Given the description of an element on the screen output the (x, y) to click on. 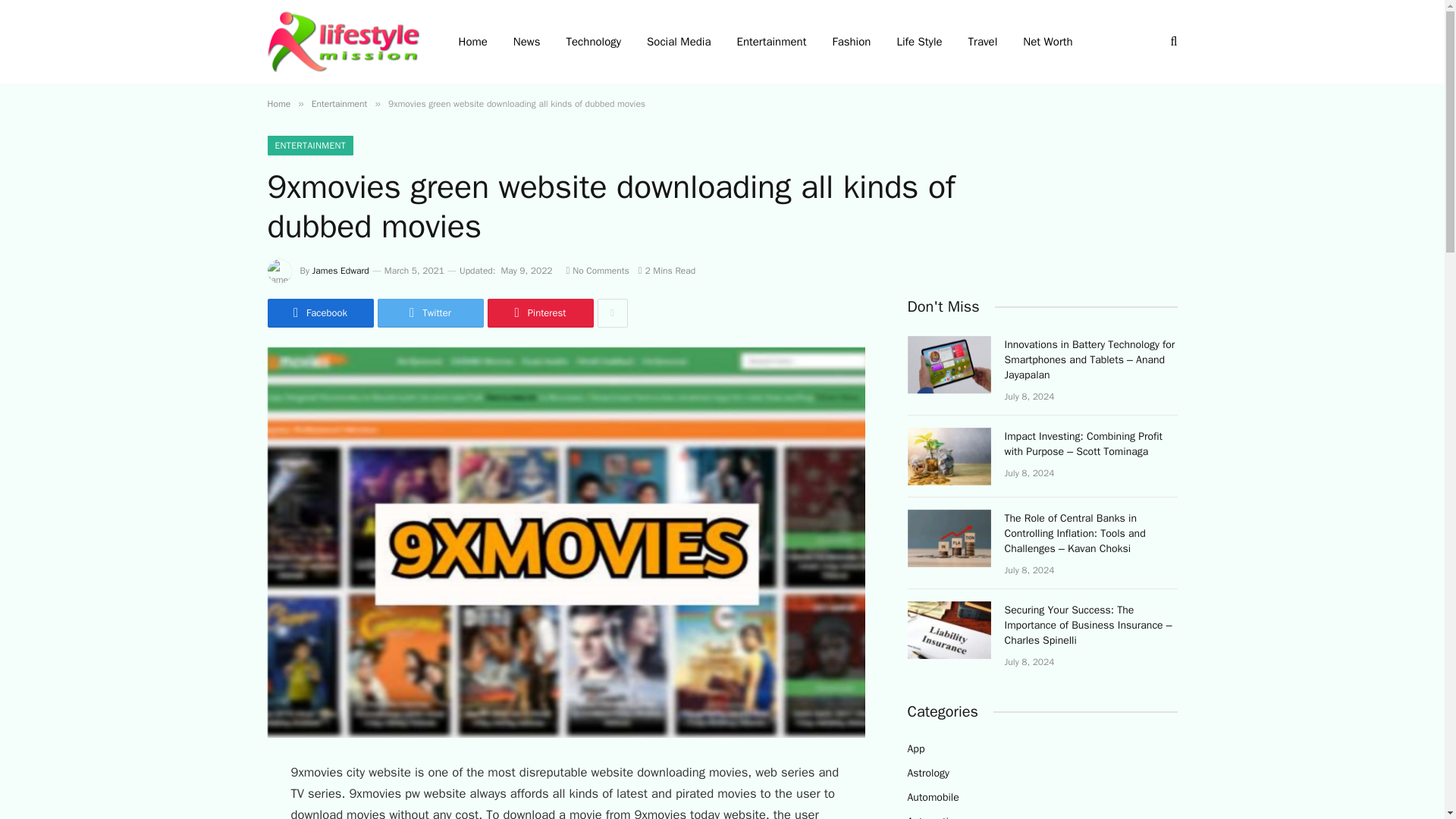
Pinterest (539, 312)
Show More Social Sharing (611, 312)
Facebook (319, 312)
Share on Pinterest (539, 312)
Social Media (678, 41)
ENTERTAINMENT (309, 145)
Technology (593, 41)
James Edward (341, 270)
Home (277, 103)
Lifestylemission (342, 41)
Entertainment (339, 103)
Net Worth (1047, 41)
Entertainment (770, 41)
Share on Facebook (319, 312)
